Given the description of an element on the screen output the (x, y) to click on. 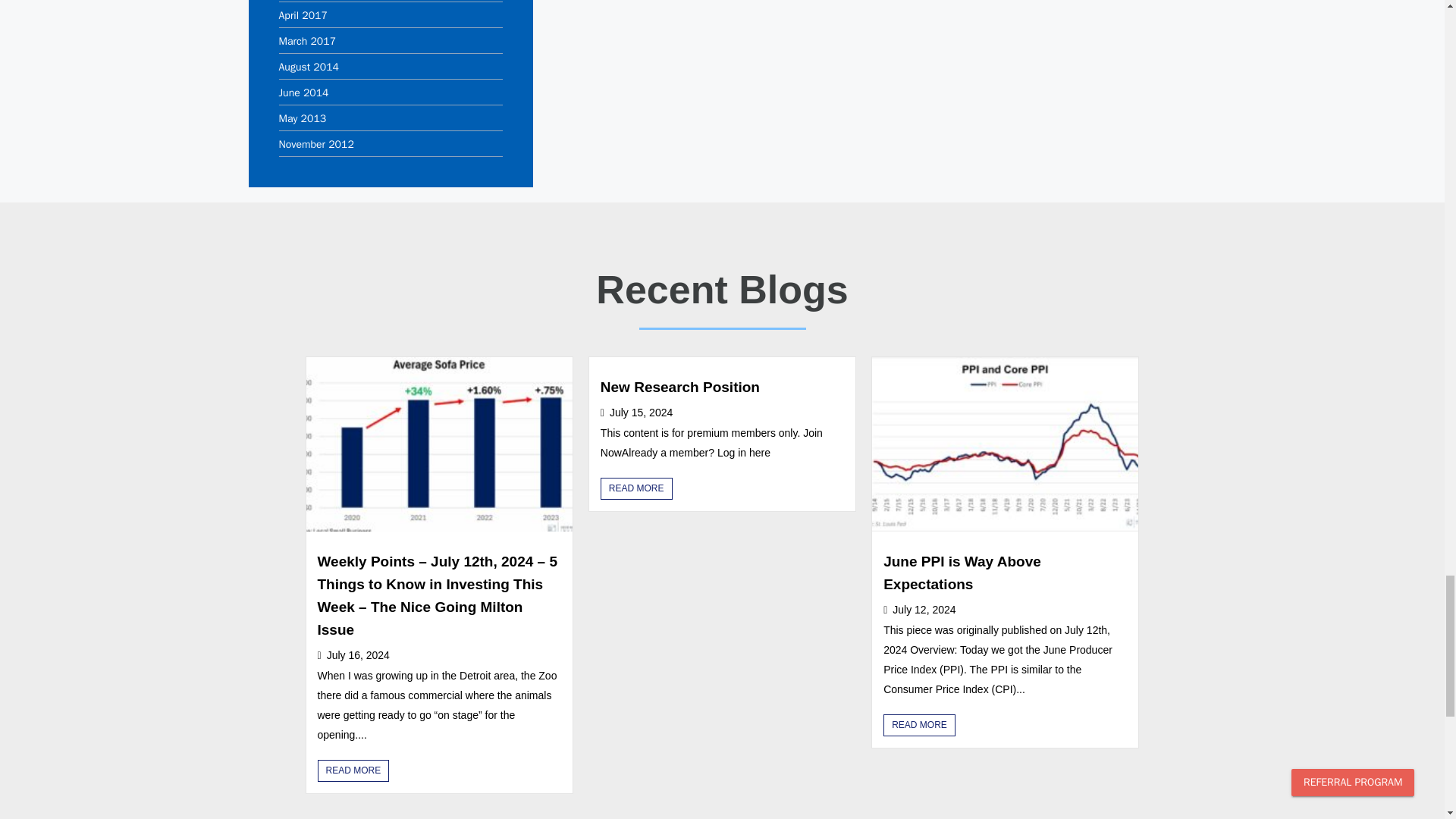
June PPI is Way Above Expectations (962, 572)
New Research Position (679, 386)
